Given the description of an element on the screen output the (x, y) to click on. 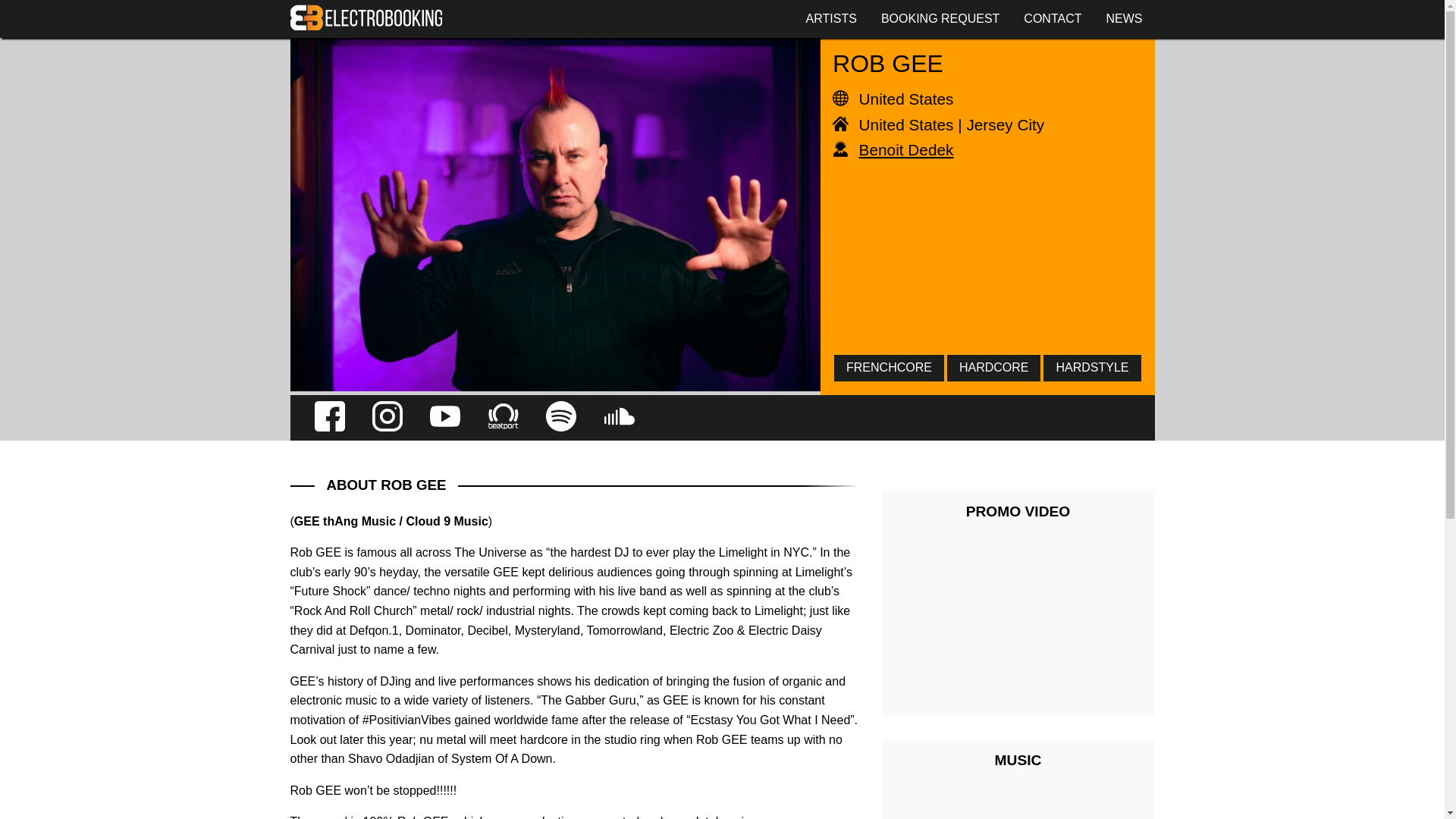
Instagram (387, 417)
ARTISTS (831, 18)
Contact Benoit Dedek (982, 149)
FRENCHCORE (888, 367)
Soundcloud (619, 417)
BOOKING REQUEST (940, 18)
Benoit Dedek (982, 149)
Facebook (328, 417)
Youtube (444, 417)
Rob GEE - My Voice My Words Mixtape by Rob GEE (1017, 806)
CONTACT (1052, 18)
NEWS (1123, 18)
Rob GEE (555, 386)
Beatport (502, 417)
Spotify (561, 417)
